Given the description of an element on the screen output the (x, y) to click on. 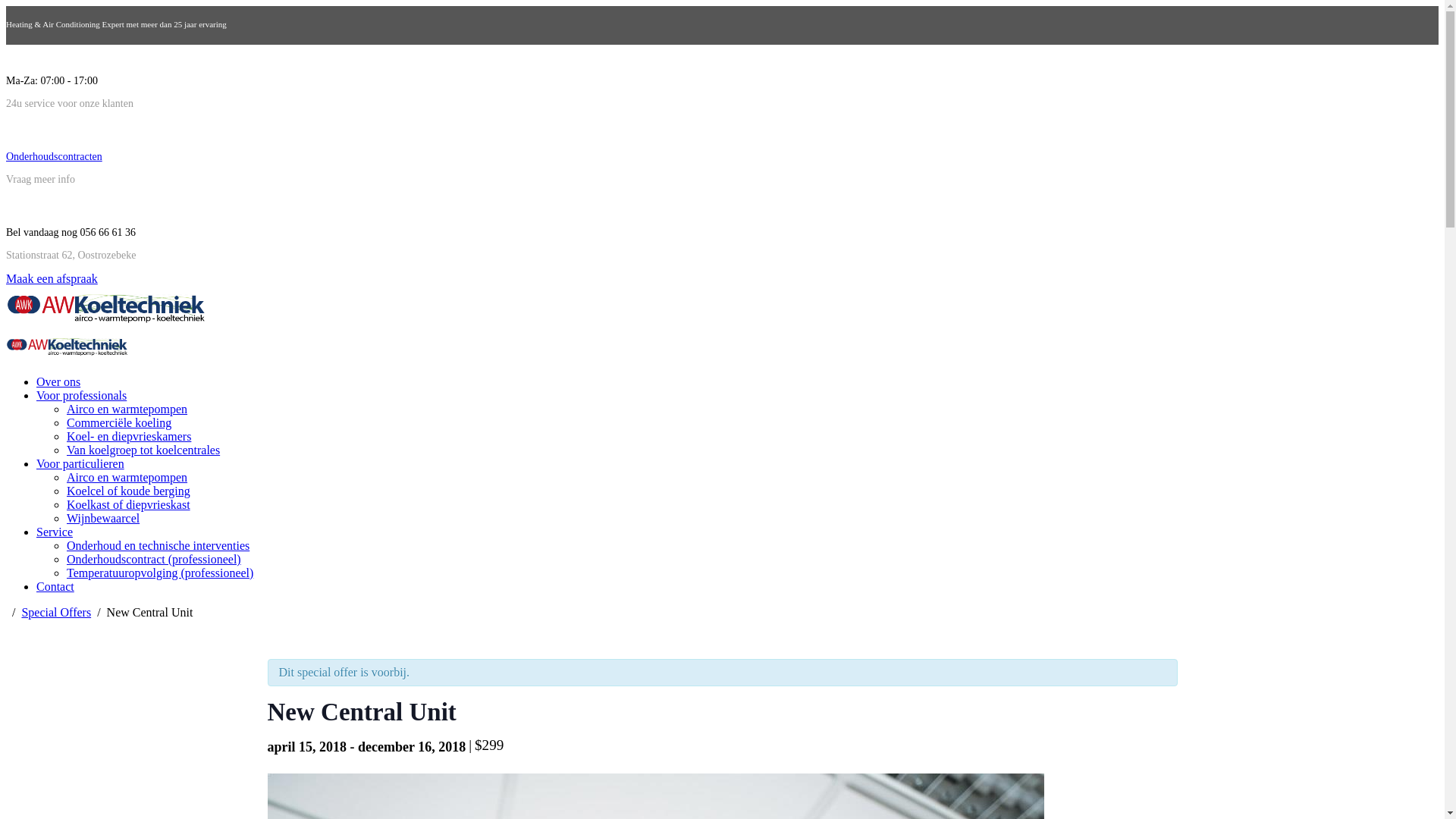
Service Element type: text (54, 531)
Voor professionals Element type: text (81, 395)
Koelkast of diepvrieskast Element type: text (128, 504)
Airco en warmtepompen Element type: text (126, 476)
Koelcel of koude berging Element type: text (128, 490)
Over ons Element type: text (58, 381)
Koel- en diepvrieskamers Element type: text (128, 435)
Onderhoud en technische interventies Element type: text (157, 545)
Maak een afspraak Element type: text (51, 278)
Temperatuuropvolging (professioneel) Element type: text (159, 572)
Van koelgroep tot koelcentrales Element type: text (142, 449)
Contact Element type: text (55, 586)
Special Offers Element type: text (56, 611)
Voor particulieren Element type: text (80, 463)
Wijnbewaarcel Element type: text (102, 517)
AWLogo2 Element type: hover (105, 307)
Onderhoudscontract (professioneel) Element type: text (153, 558)
Airco en warmtepompen Element type: text (126, 408)
Onderhoudscontracten Element type: text (54, 156)
